Given the description of an element on the screen output the (x, y) to click on. 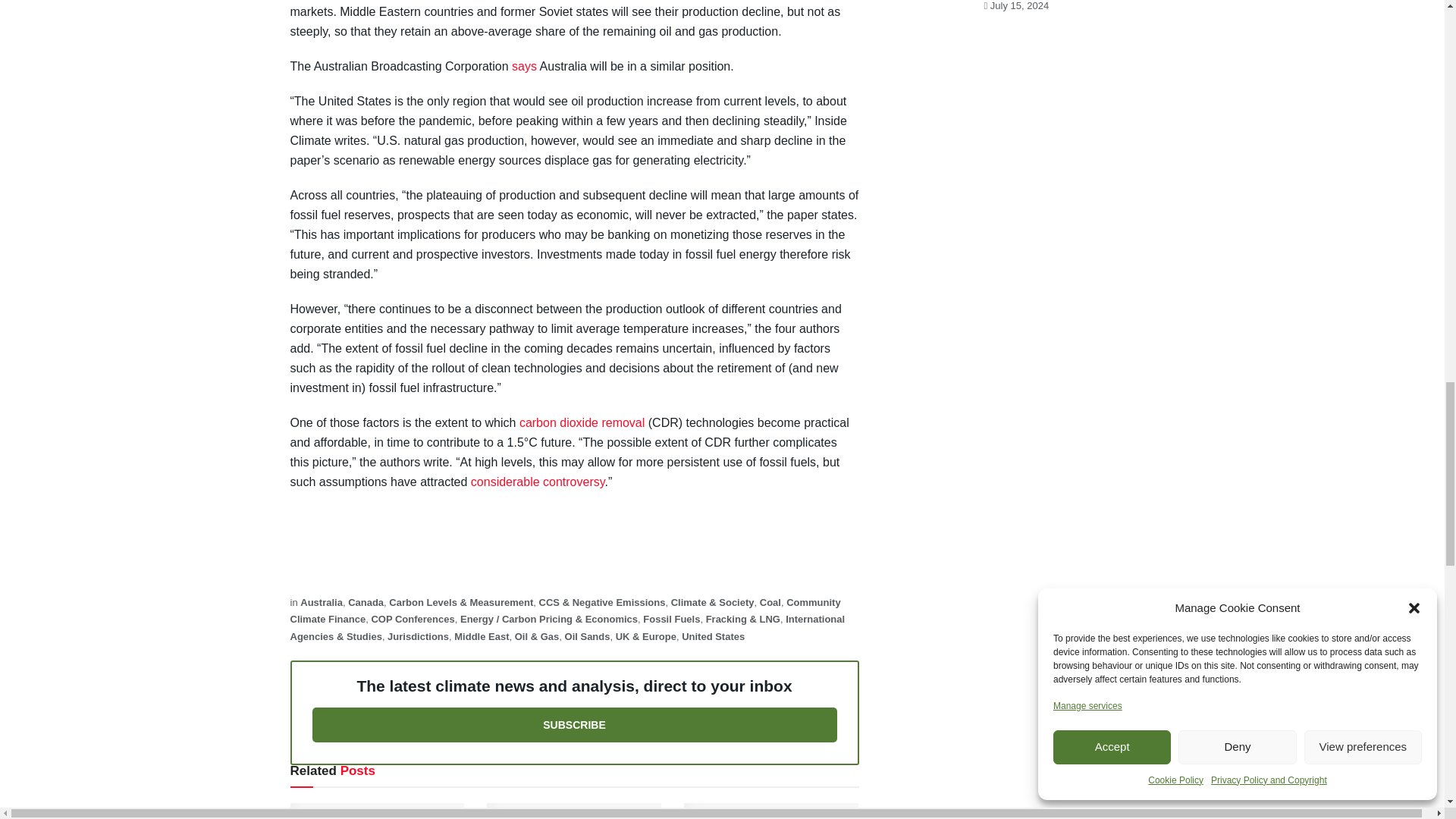
View Subscription Options (575, 724)
